Given the description of an element on the screen output the (x, y) to click on. 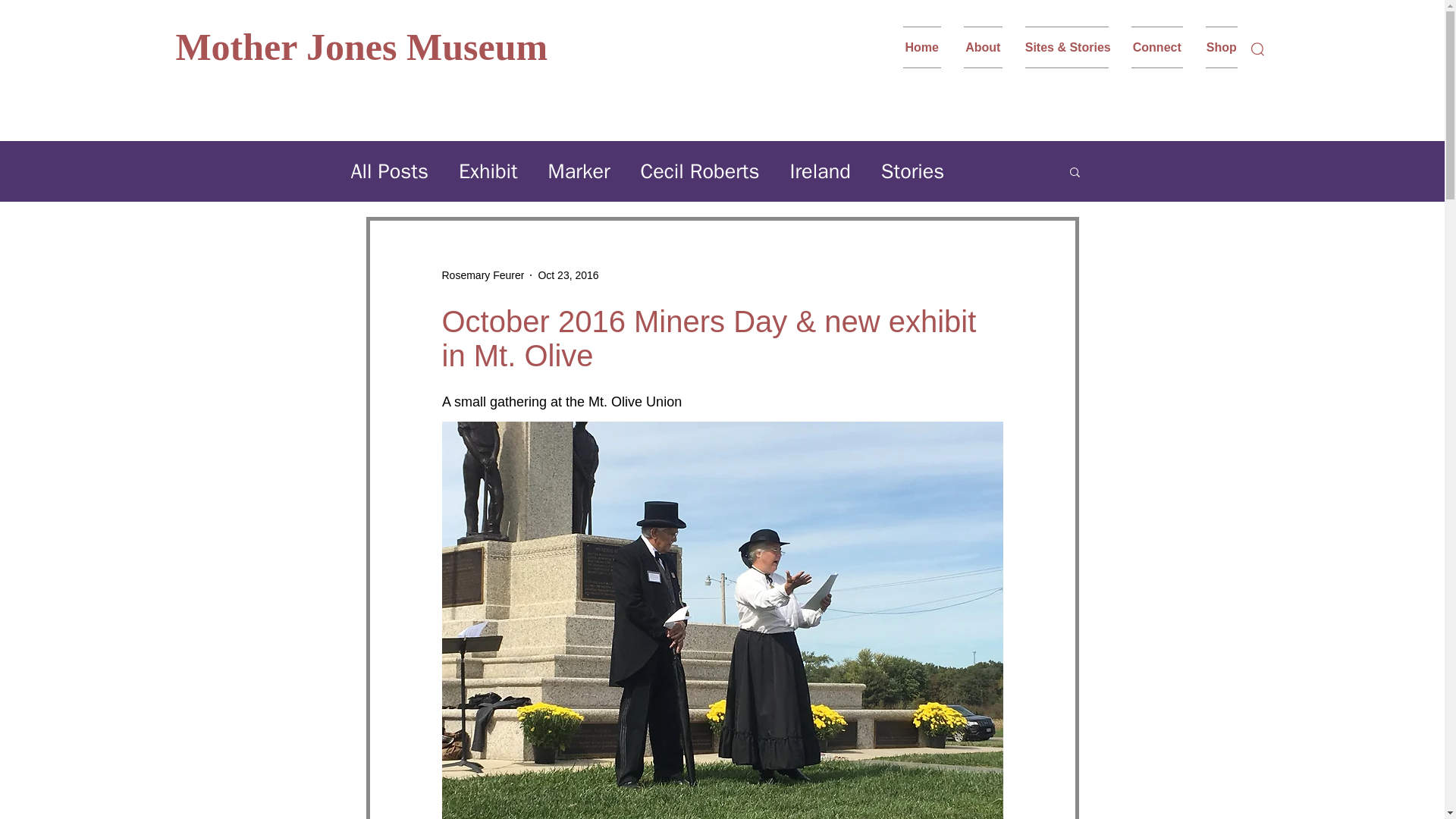
Marker (579, 171)
Oct 23, 2016 (567, 274)
Cecil Roberts (700, 171)
Stories (912, 171)
Home (927, 46)
Shop (1215, 46)
All Posts (389, 171)
Exhibit (488, 171)
Ireland (819, 171)
Rosemary Feurer (482, 274)
Rosemary Feurer (482, 274)
